Given the description of an element on the screen output the (x, y) to click on. 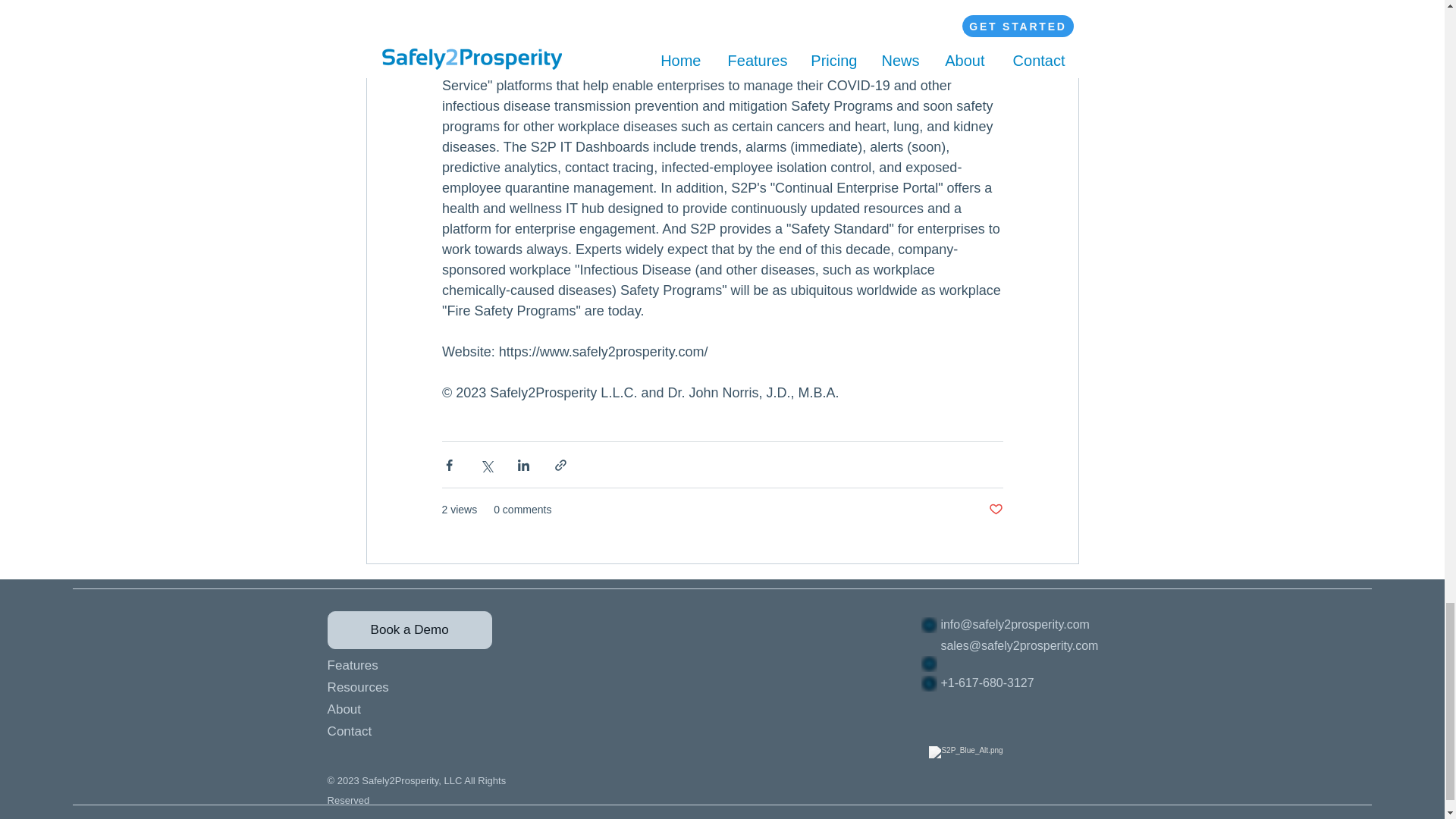
Post not marked as liked (995, 509)
Features (396, 665)
Contact (396, 731)
Book a Demo (409, 629)
Resources (396, 687)
About (396, 709)
